Given the description of an element on the screen output the (x, y) to click on. 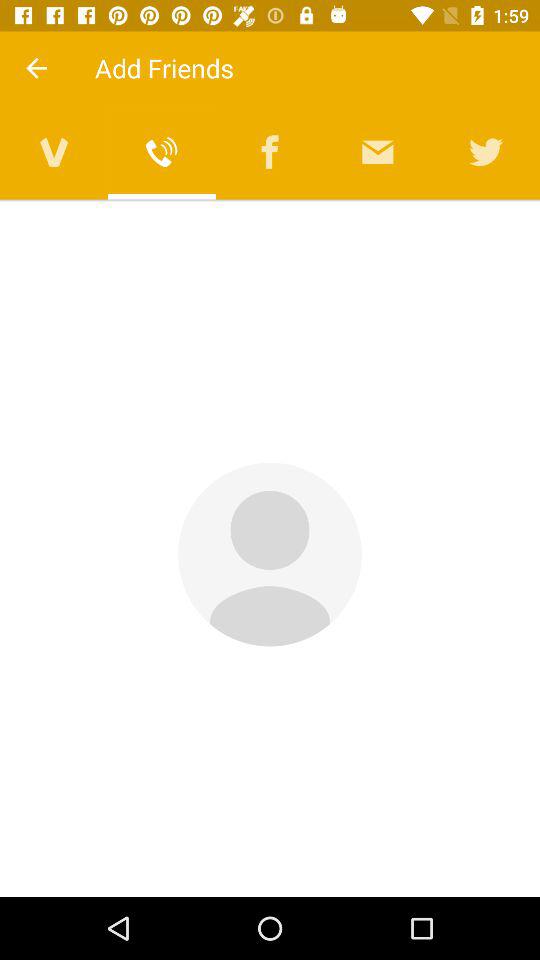
add friends from facebook (270, 152)
